Given the description of an element on the screen output the (x, y) to click on. 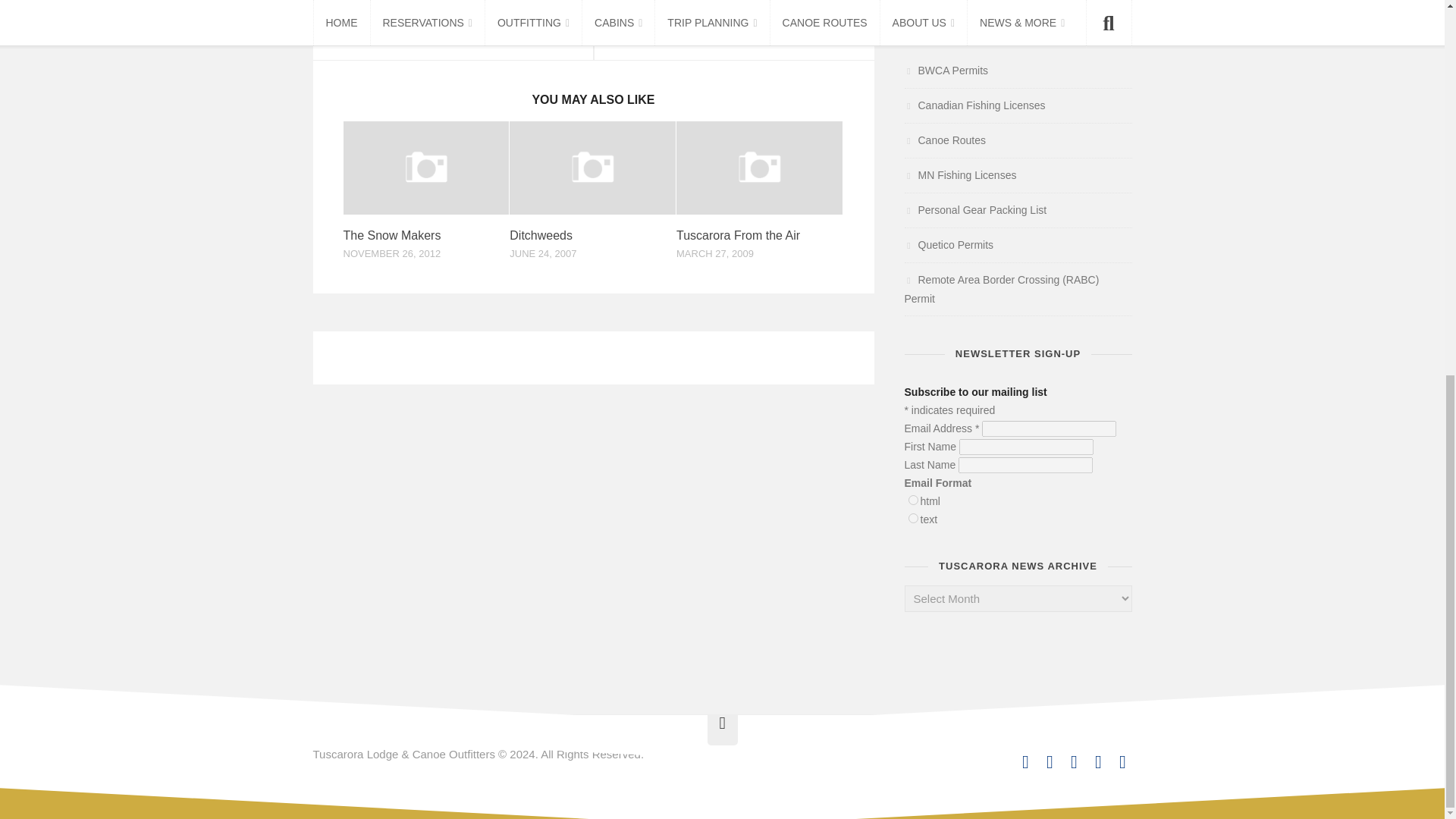
Purchase you fishing licenses for Canada  here (974, 105)
text (913, 518)
Suggested Canoe Routes (944, 140)
html (913, 500)
